Given the description of an element on the screen output the (x, y) to click on. 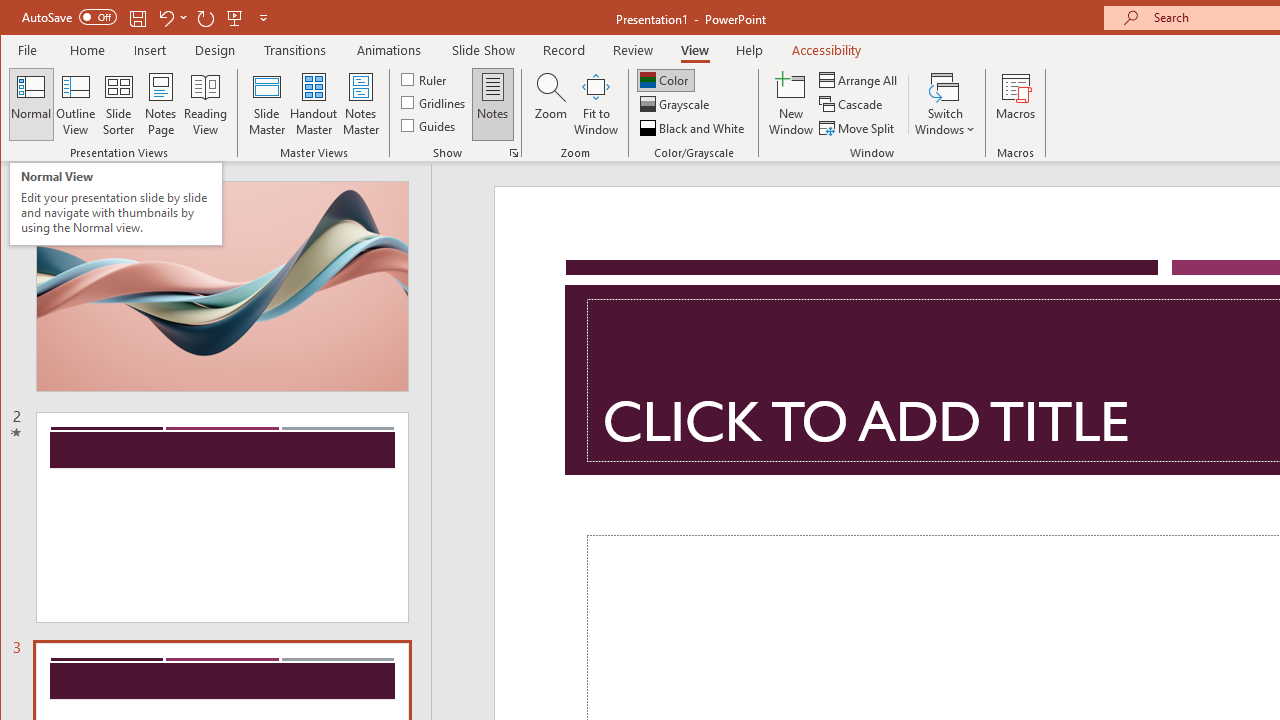
Outline View (75, 104)
Fit to Window (596, 104)
Zoom... (550, 104)
